Given the description of an element on the screen output the (x, y) to click on. 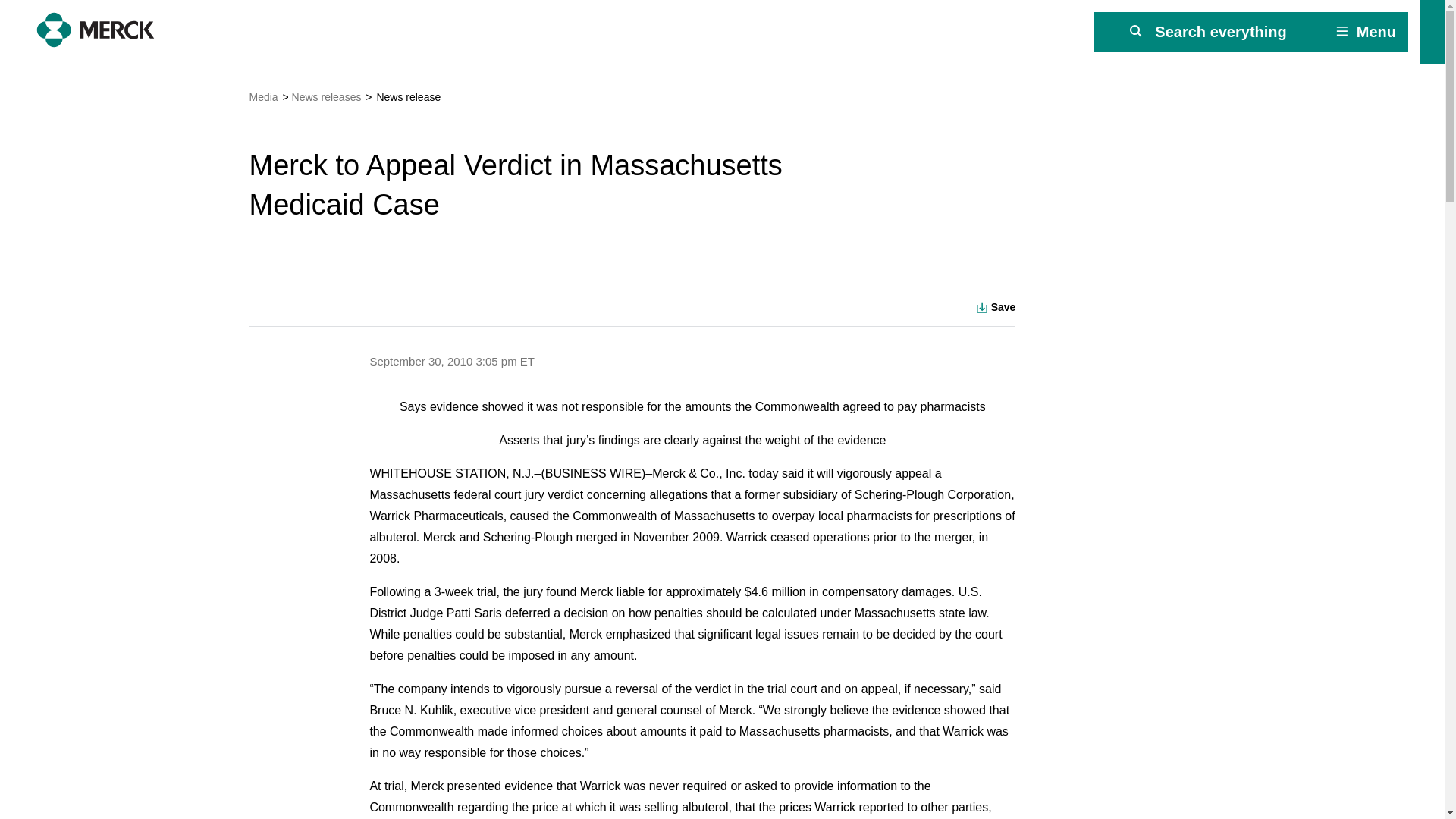
Search everything (1208, 31)
Merck.com (95, 29)
Menu (1365, 31)
